Given the description of an element on the screen output the (x, y) to click on. 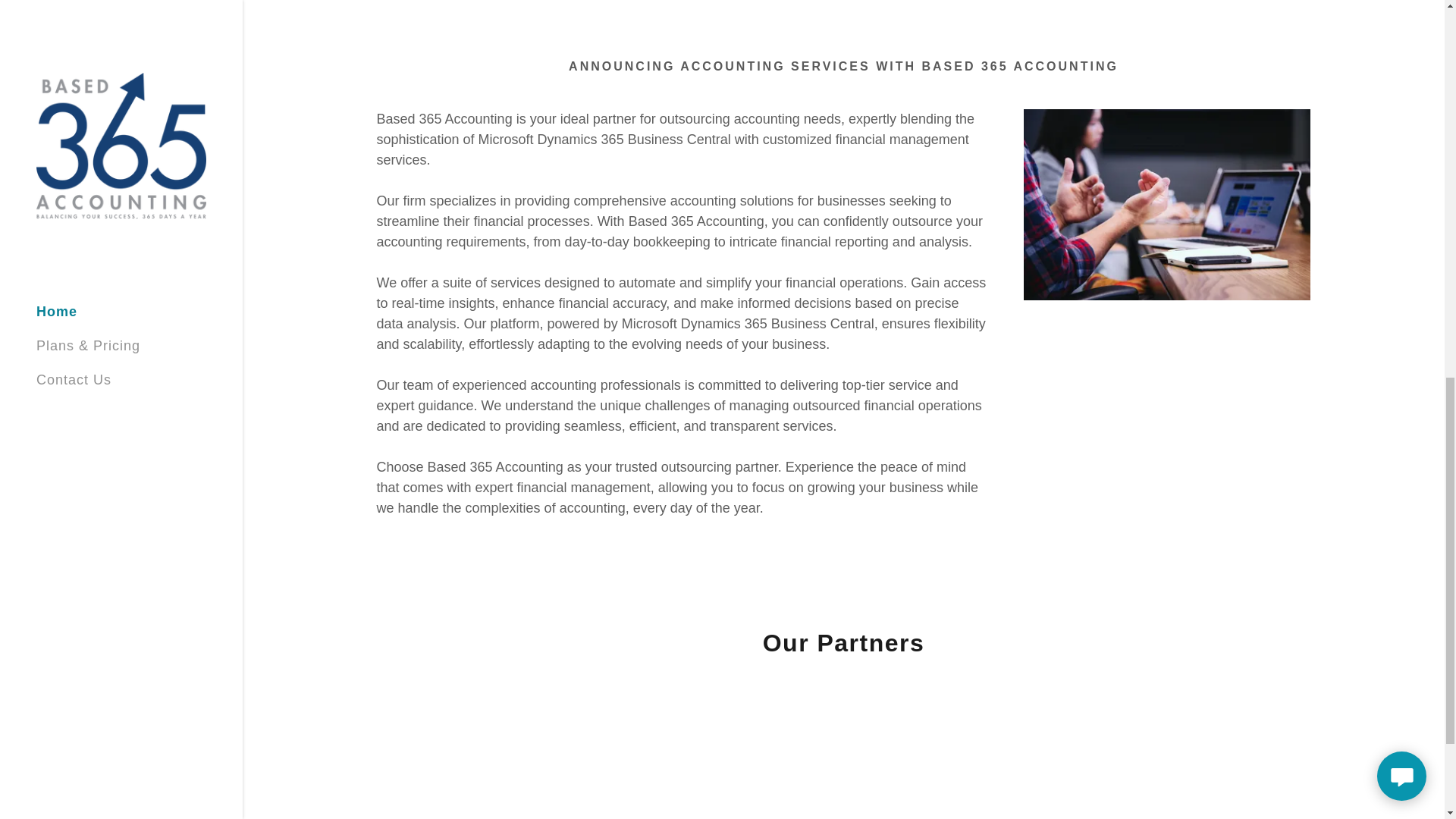
ACCEPT (1274, 324)
Contact Us (919, 816)
Home (751, 816)
